Given the description of an element on the screen output the (x, y) to click on. 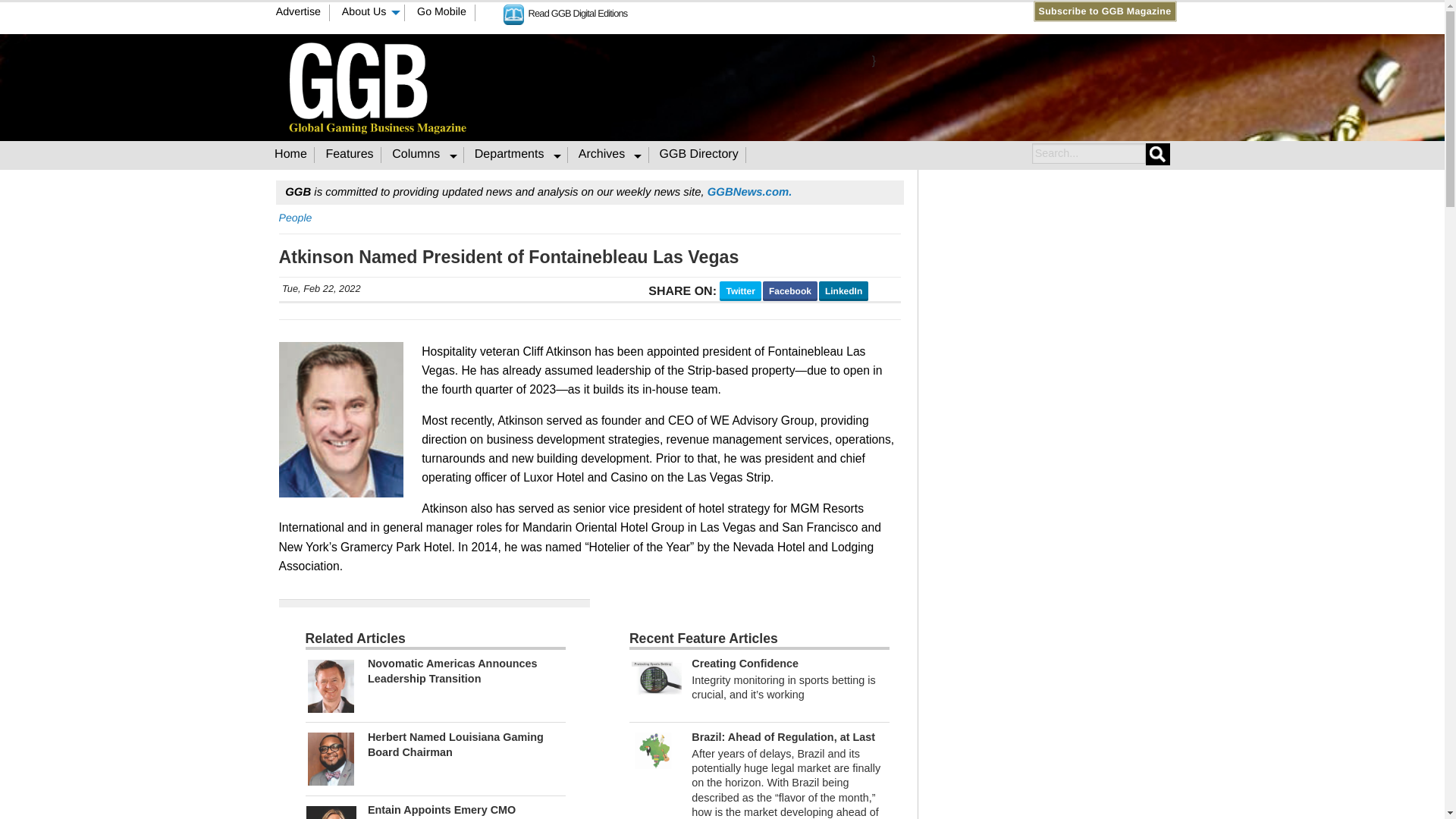
Facebook (752, 11)
Herbert Named Louisiana Gaming Board Chairman (330, 758)
Herbert Named Louisiana Gaming Board Chairman (455, 744)
GGB Directory (698, 154)
Go Mobile (442, 12)
Novomatic Americas Announces Leadership Transition (330, 685)
Advertise (298, 12)
LinkedIn (781, 11)
About Us (369, 12)
GGB News (749, 192)
Twitter (767, 11)
Read GGB Digital Editions (565, 12)
Search for: (1087, 153)
Novomatic Americas Announces Leadership Transition (452, 670)
